Given the description of an element on the screen output the (x, y) to click on. 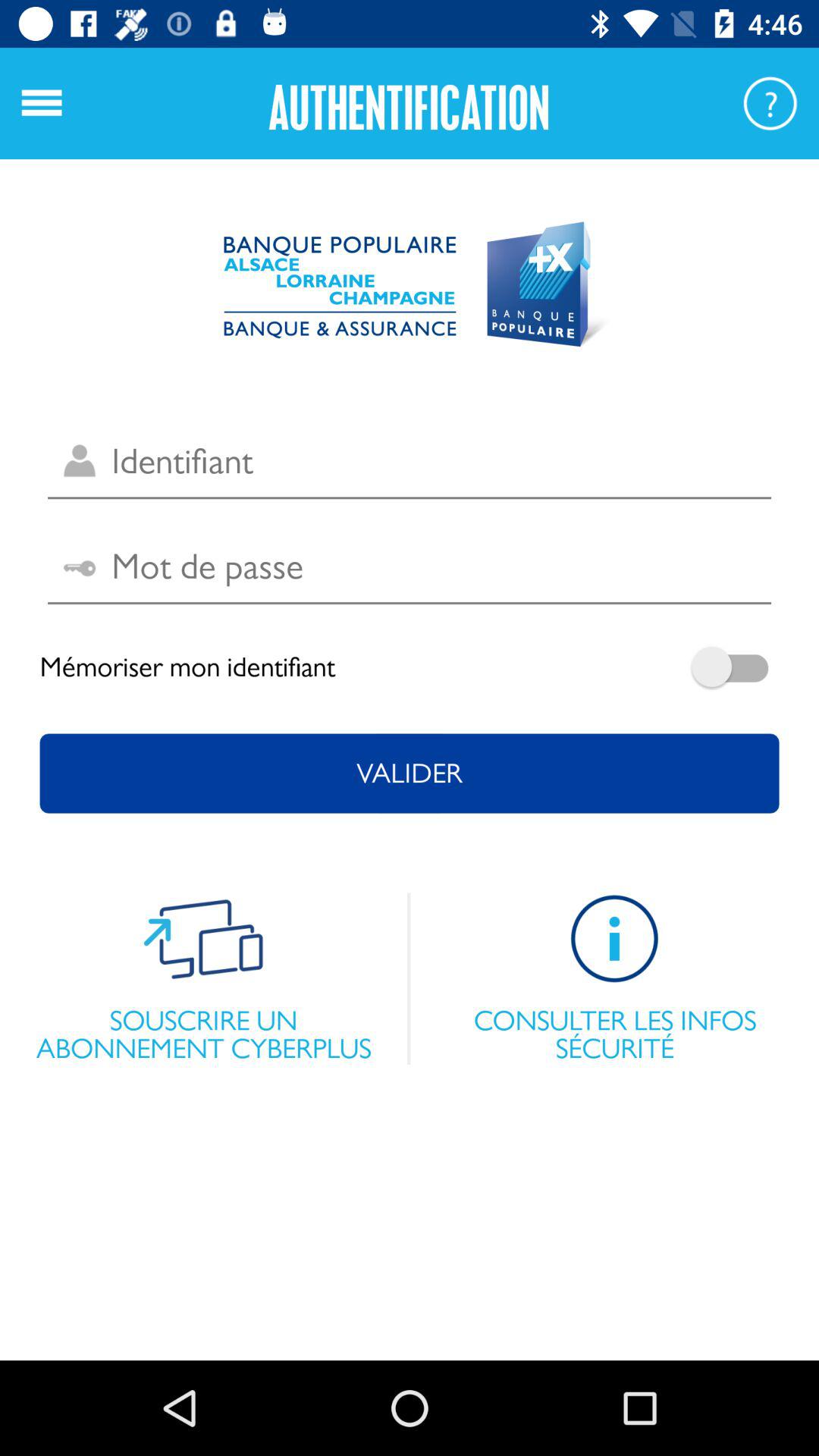
enter password (409, 566)
